Given the description of an element on the screen output the (x, y) to click on. 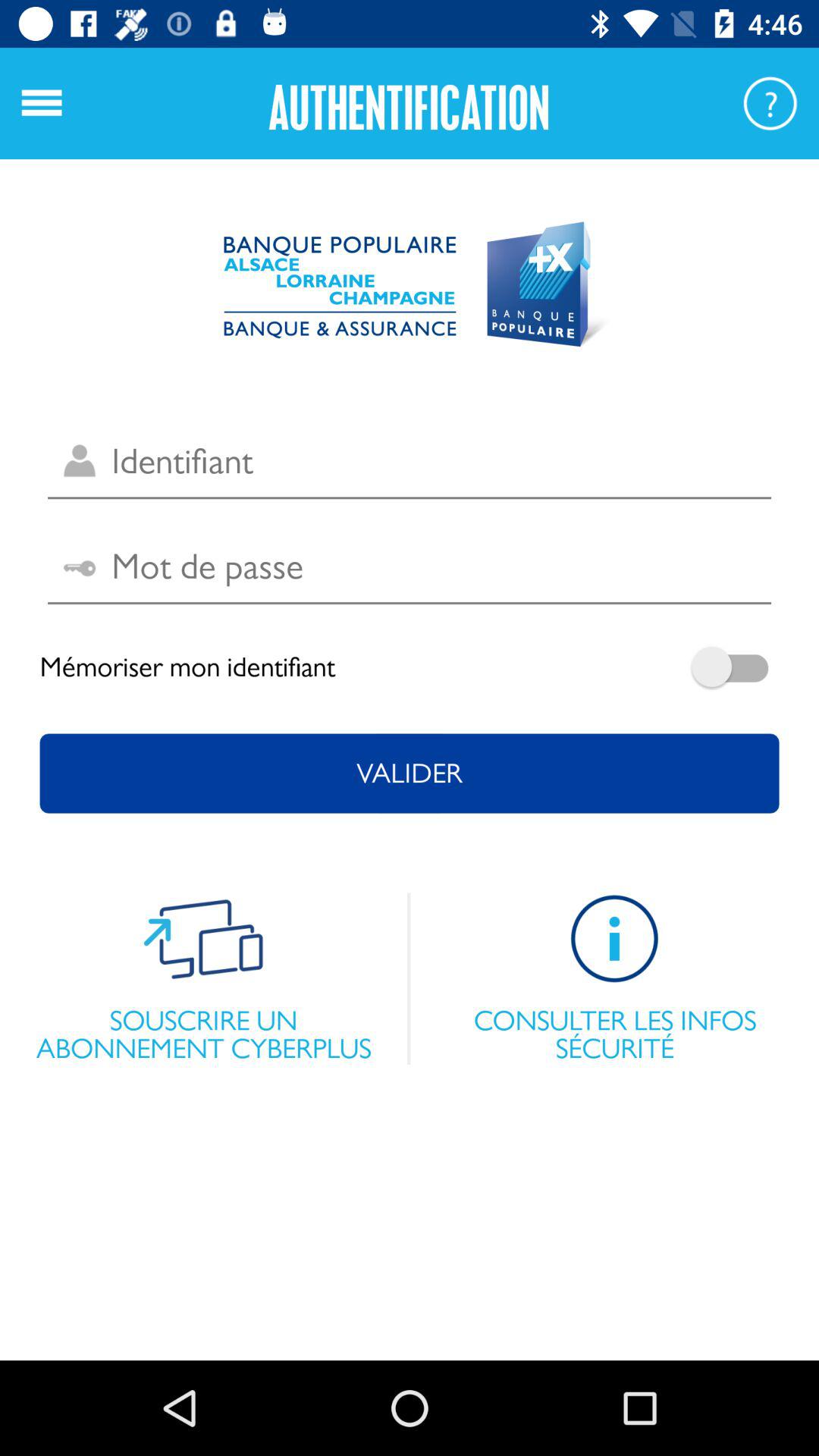
enter password (409, 566)
